Given the description of an element on the screen output the (x, y) to click on. 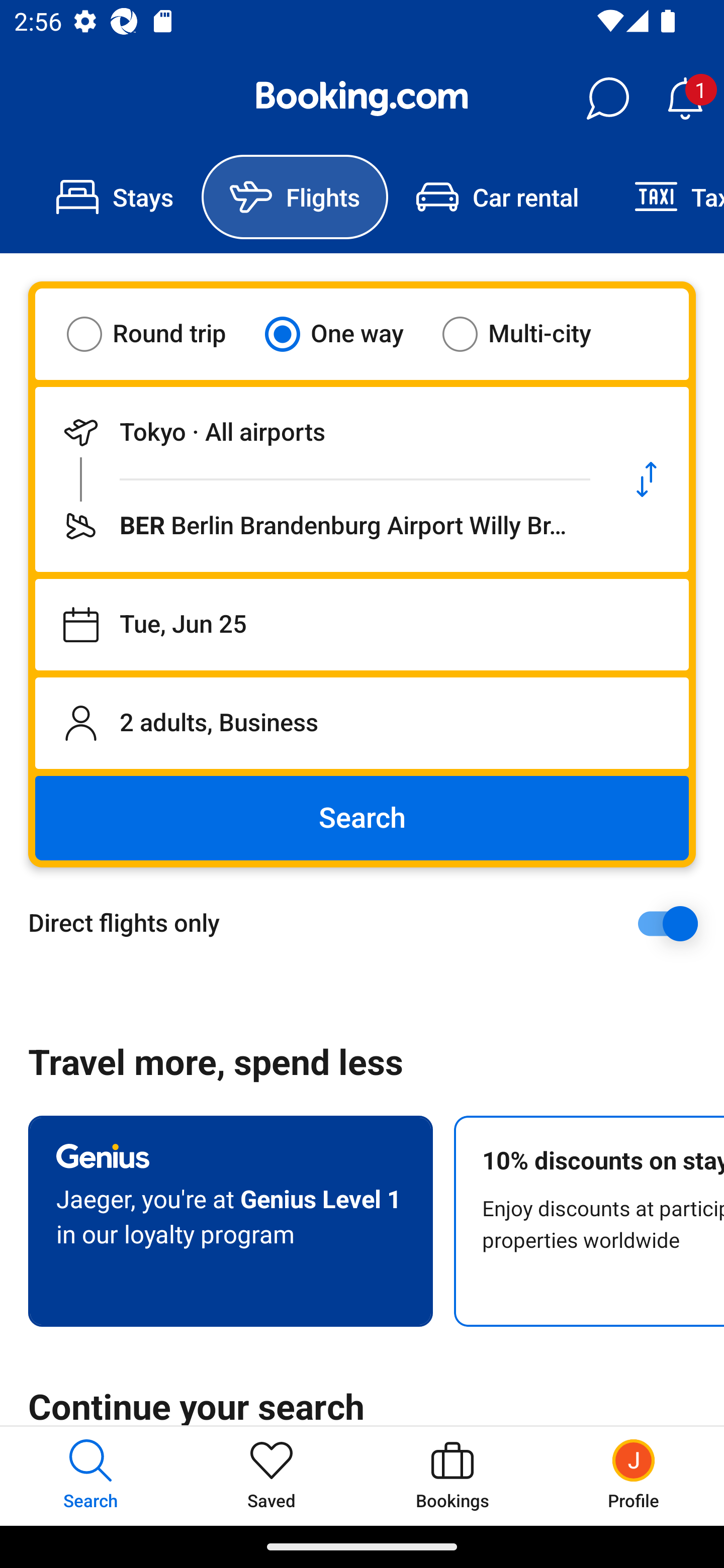
Messages (607, 98)
Notifications (685, 98)
Stays (114, 197)
Flights (294, 197)
Car rental (497, 197)
Taxi (665, 197)
Round trip (158, 333)
Multi-city (528, 333)
Departing from Tokyo · All airports (319, 432)
Swap departure location and destination (646, 479)
Departing on Tue, Jun 25 (361, 624)
2 adults, Business (361, 722)
Search (361, 818)
Direct flights only (369, 923)
Saved (271, 1475)
Bookings (452, 1475)
Profile (633, 1475)
